Given the description of an element on the screen output the (x, y) to click on. 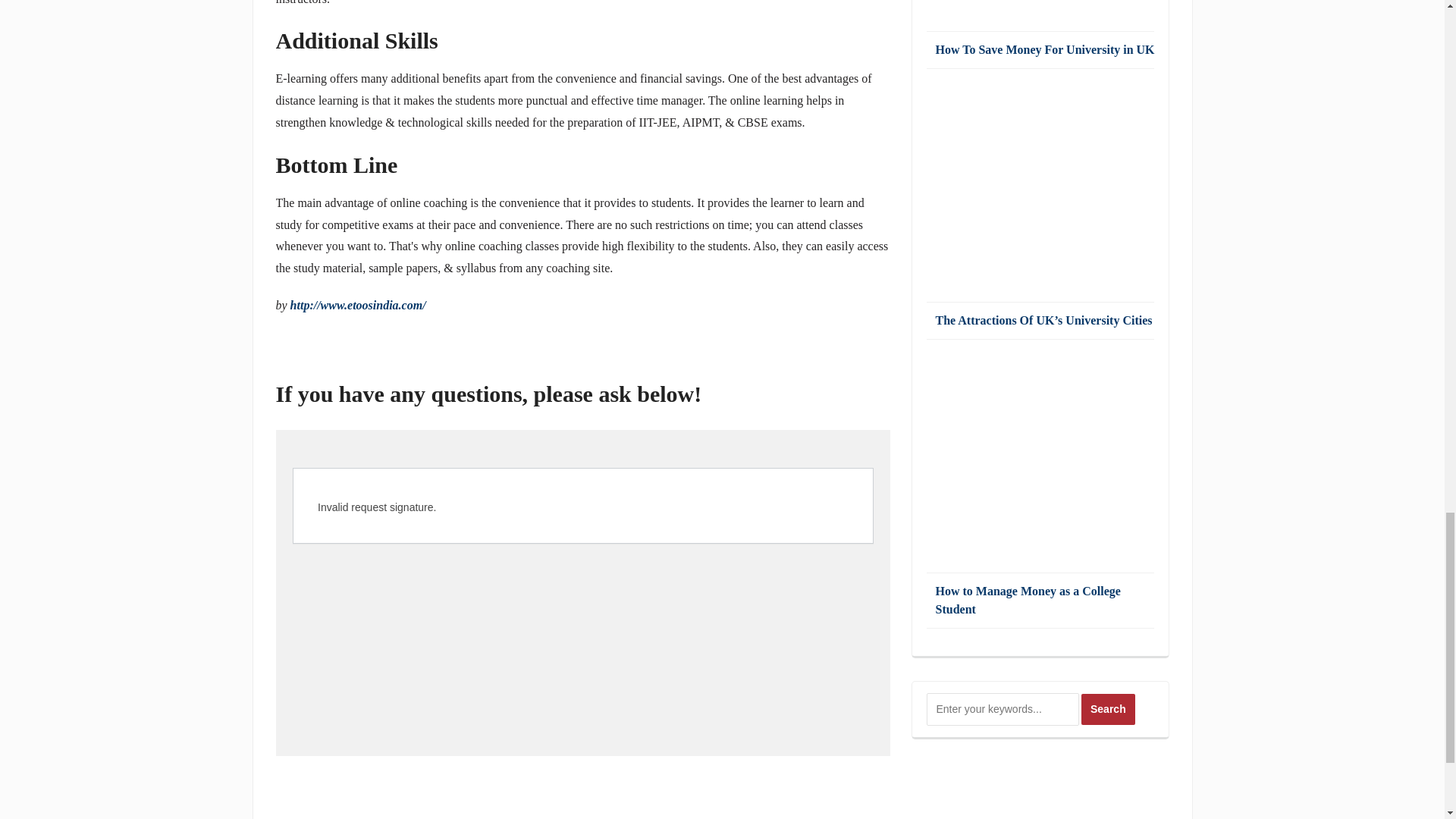
Search (1108, 708)
Search (1108, 708)
